Given the description of an element on the screen output the (x, y) to click on. 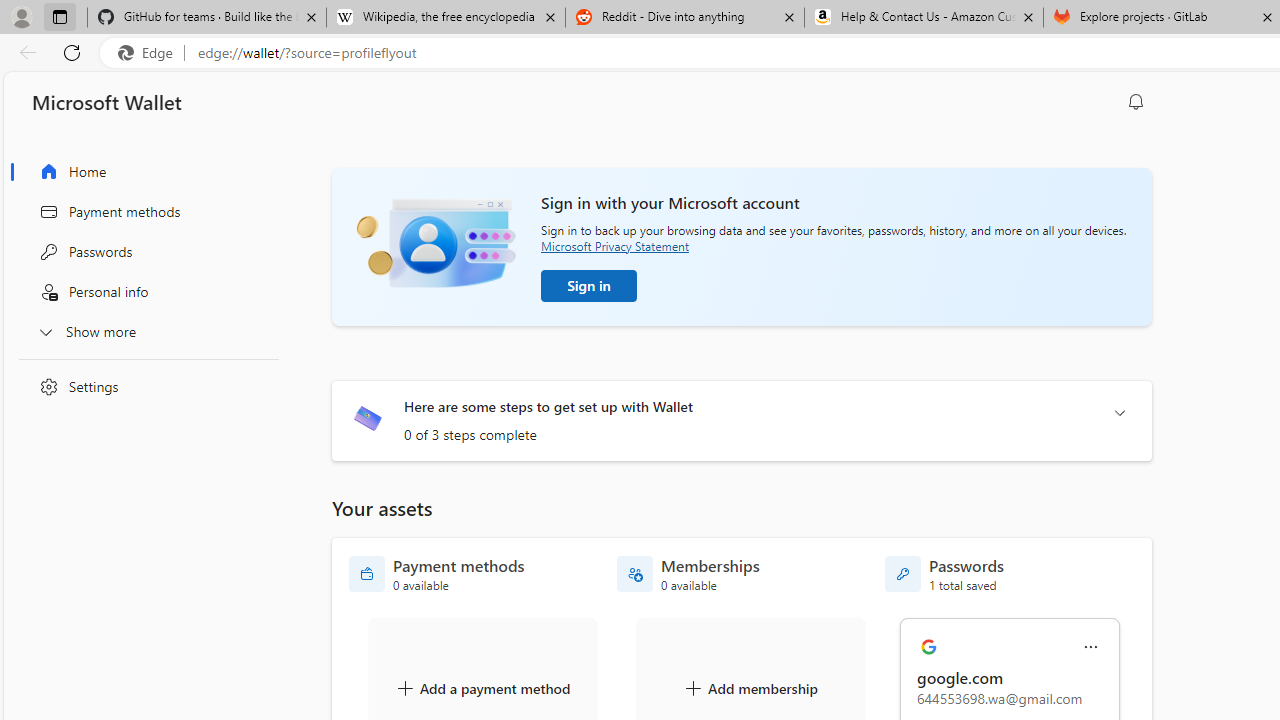
Passwords (143, 252)
Edge (150, 53)
Passwords - 1 total saved (944, 573)
